Given the description of an element on the screen output the (x, y) to click on. 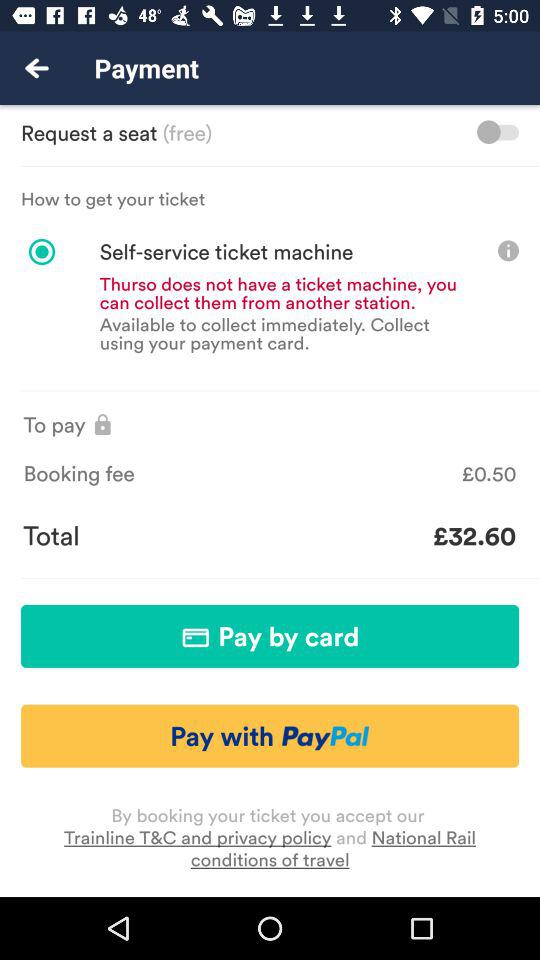
provide information about self-service ticket machine (508, 250)
